Given the description of an element on the screen output the (x, y) to click on. 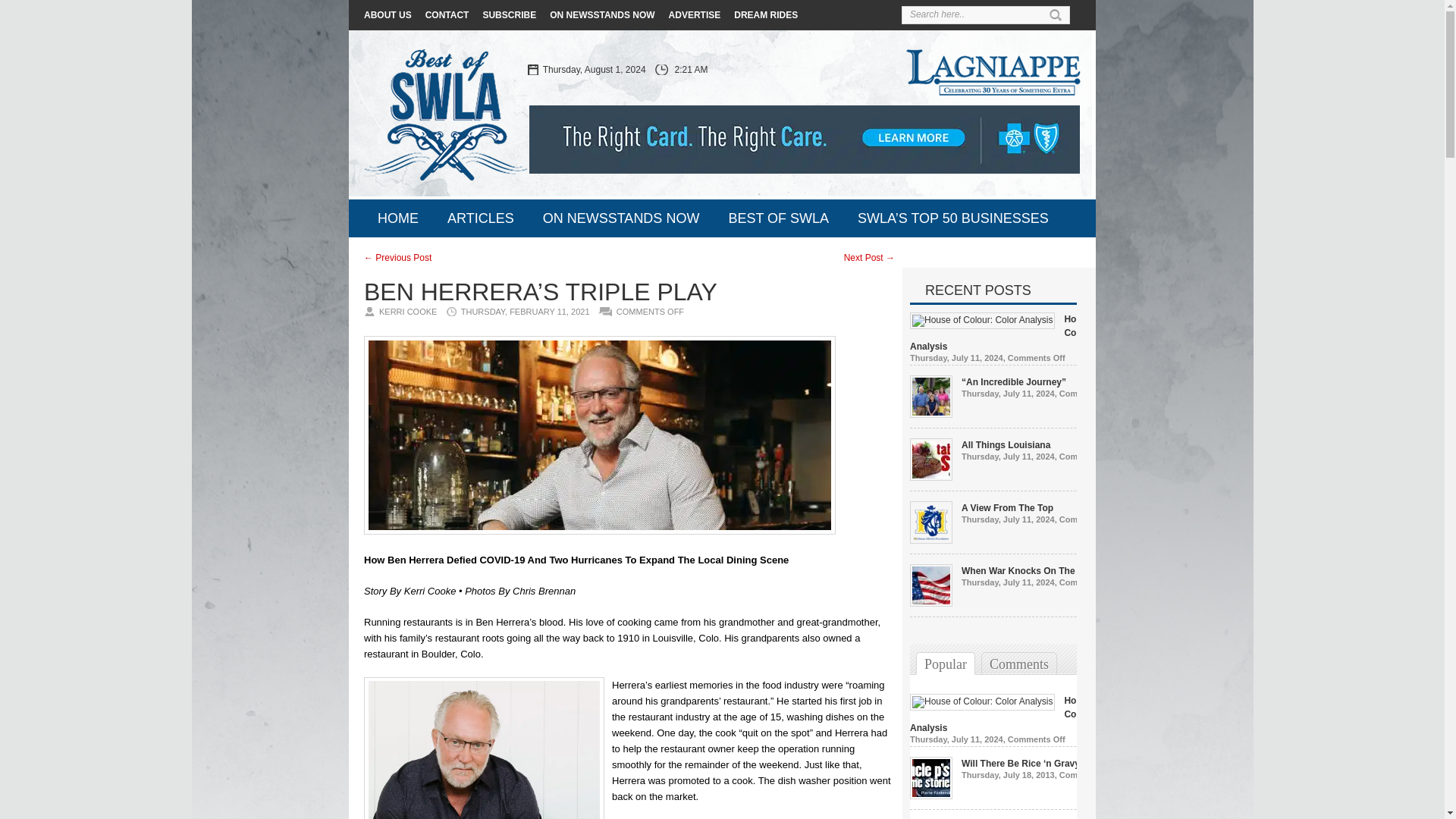
House of Colour: Color Analysis (1016, 332)
HOME (398, 218)
SUBSCRIBE (508, 15)
All Things Louisiana (1004, 444)
House of Colour: Color Analysis (982, 319)
ON NEWSSTANDS NOW (601, 15)
ABOUT US (388, 15)
Search here.. (978, 14)
BEST OF SWLA (778, 218)
DREAM RIDES (765, 15)
